Given the description of an element on the screen output the (x, y) to click on. 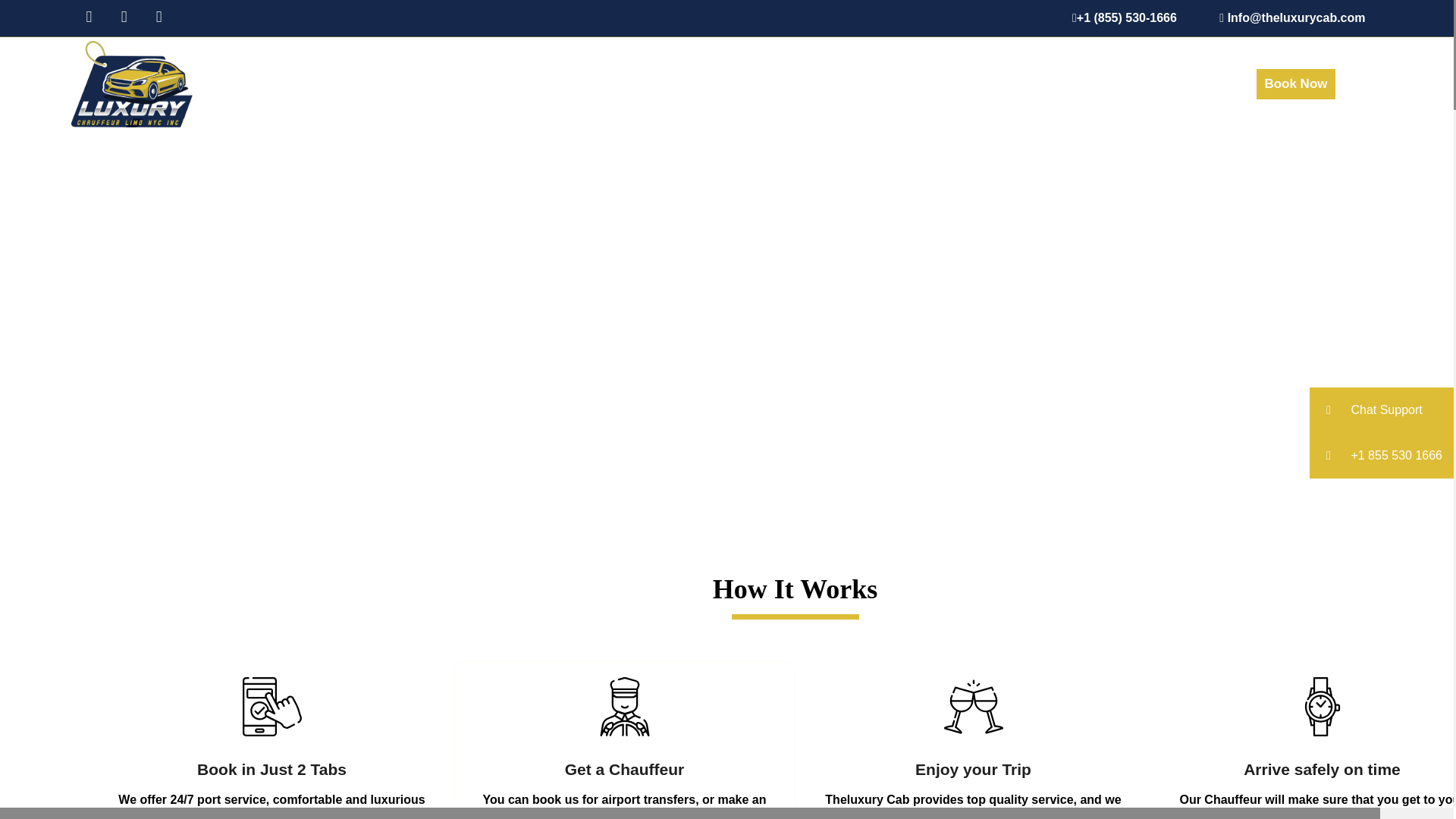
Facebook (82, 17)
Service Area (1117, 83)
Services (816, 83)
Instagram (151, 17)
C C Auth (939, 83)
Get A Quote (1018, 83)
Fleet (881, 83)
Home (747, 83)
Twitter (117, 17)
